Given the description of an element on the screen output the (x, y) to click on. 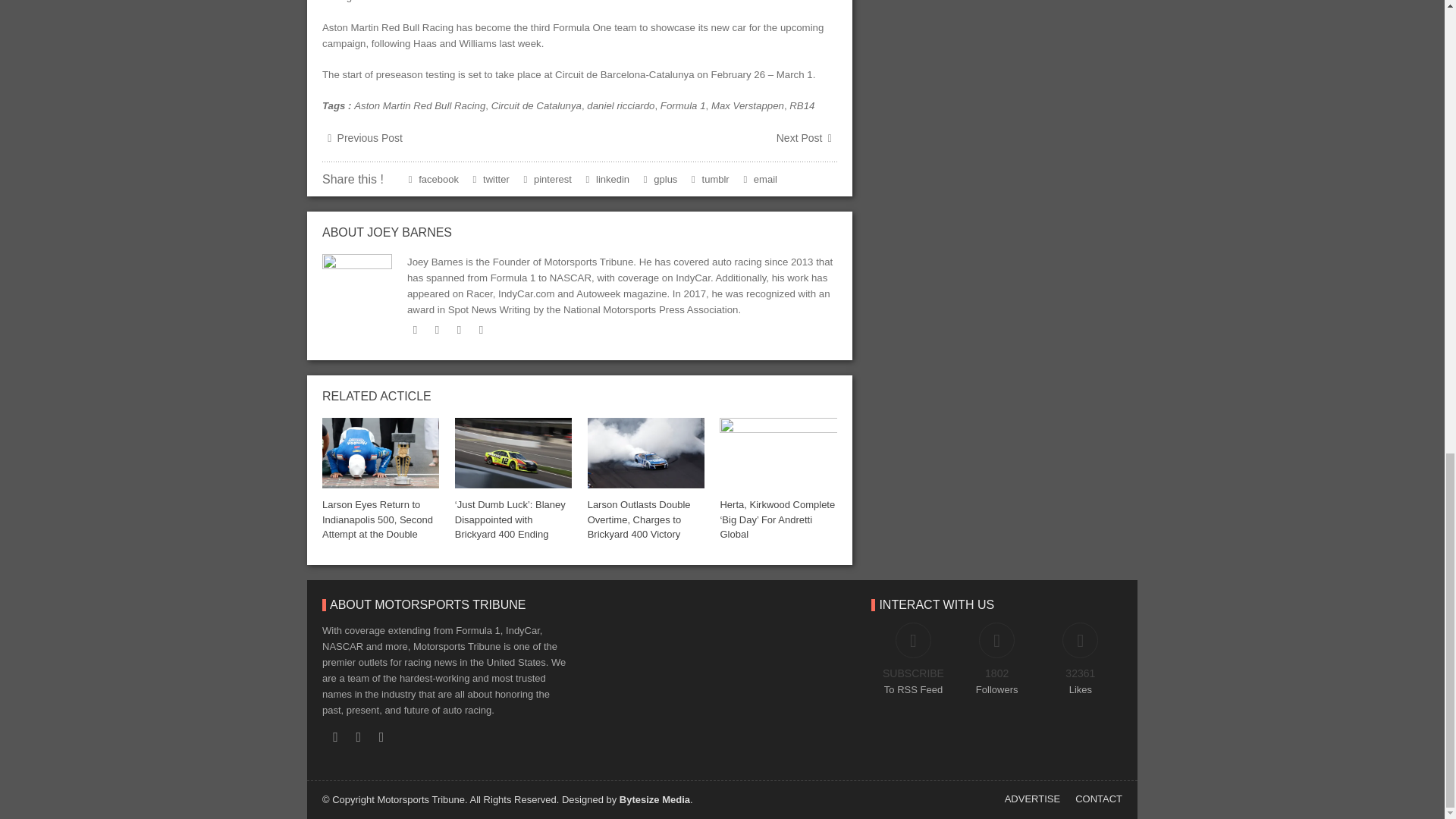
facebook (437, 329)
linkedin (459, 329)
Posts by Joey Barnes (408, 232)
email (481, 329)
twitter (415, 329)
